Given the description of an element on the screen output the (x, y) to click on. 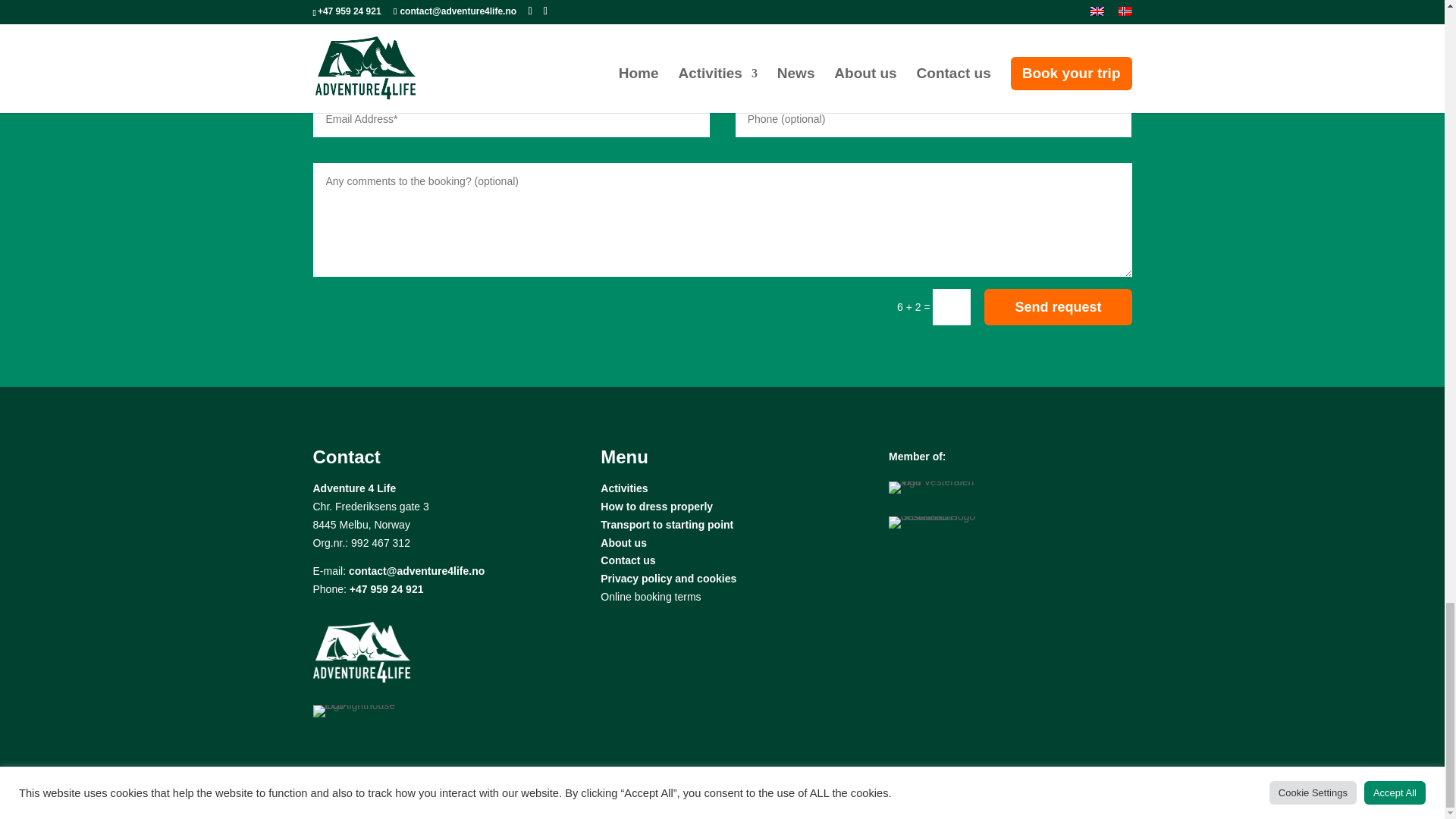
About us (622, 542)
Only numbers allowed. (933, 118)
Send request (1057, 307)
How to dress properly (656, 506)
Activities (623, 488)
Contact us (627, 560)
Transport to starting point (666, 524)
Privacy policy and cookies (667, 578)
